Given the description of an element on the screen output the (x, y) to click on. 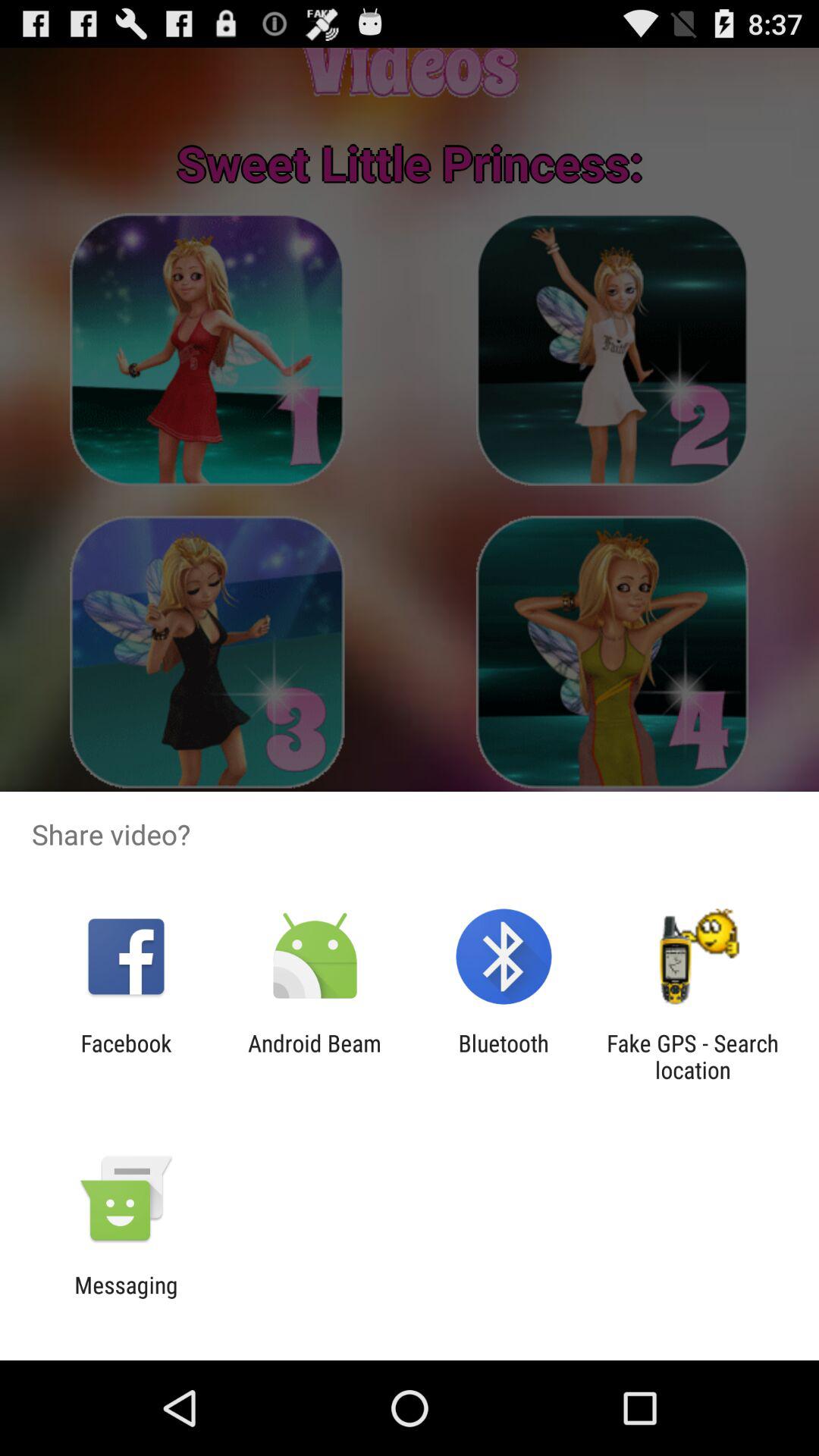
open app next to the android beam app (125, 1056)
